Given the description of an element on the screen output the (x, y) to click on. 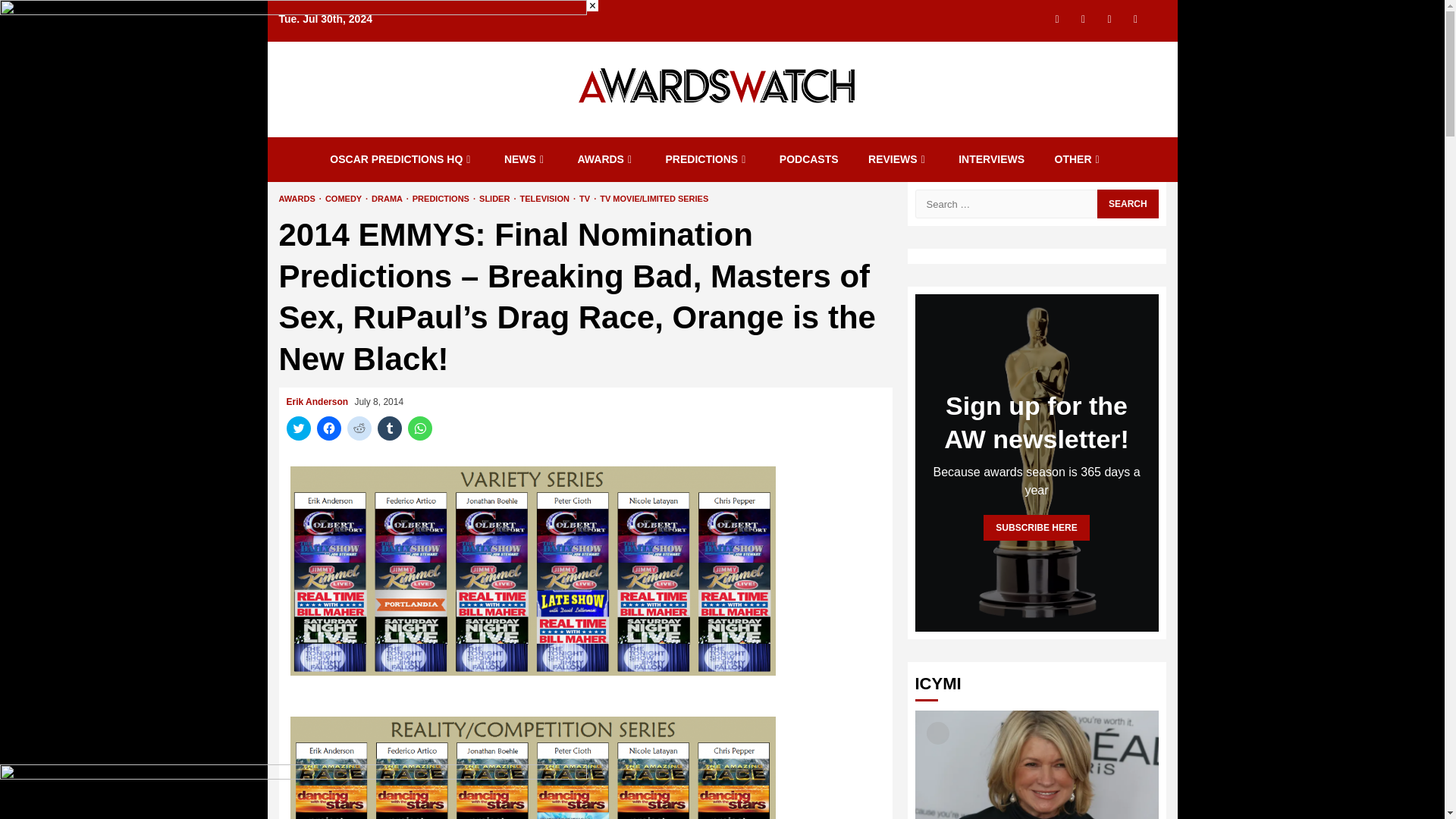
PREDICTIONS (707, 159)
Click to share on Tumblr (389, 428)
Search (1126, 44)
Facebook (1109, 18)
Click to share on Twitter (298, 428)
Click to share on WhatsApp (419, 428)
REVIEWS (897, 159)
Click to share on Facebook (328, 428)
PODCASTS (808, 159)
Click to share on Reddit (359, 428)
Twitter (1056, 18)
Instagram (1082, 18)
Search (1127, 203)
NEWS (525, 159)
Search (1127, 203)
